Given the description of an element on the screen output the (x, y) to click on. 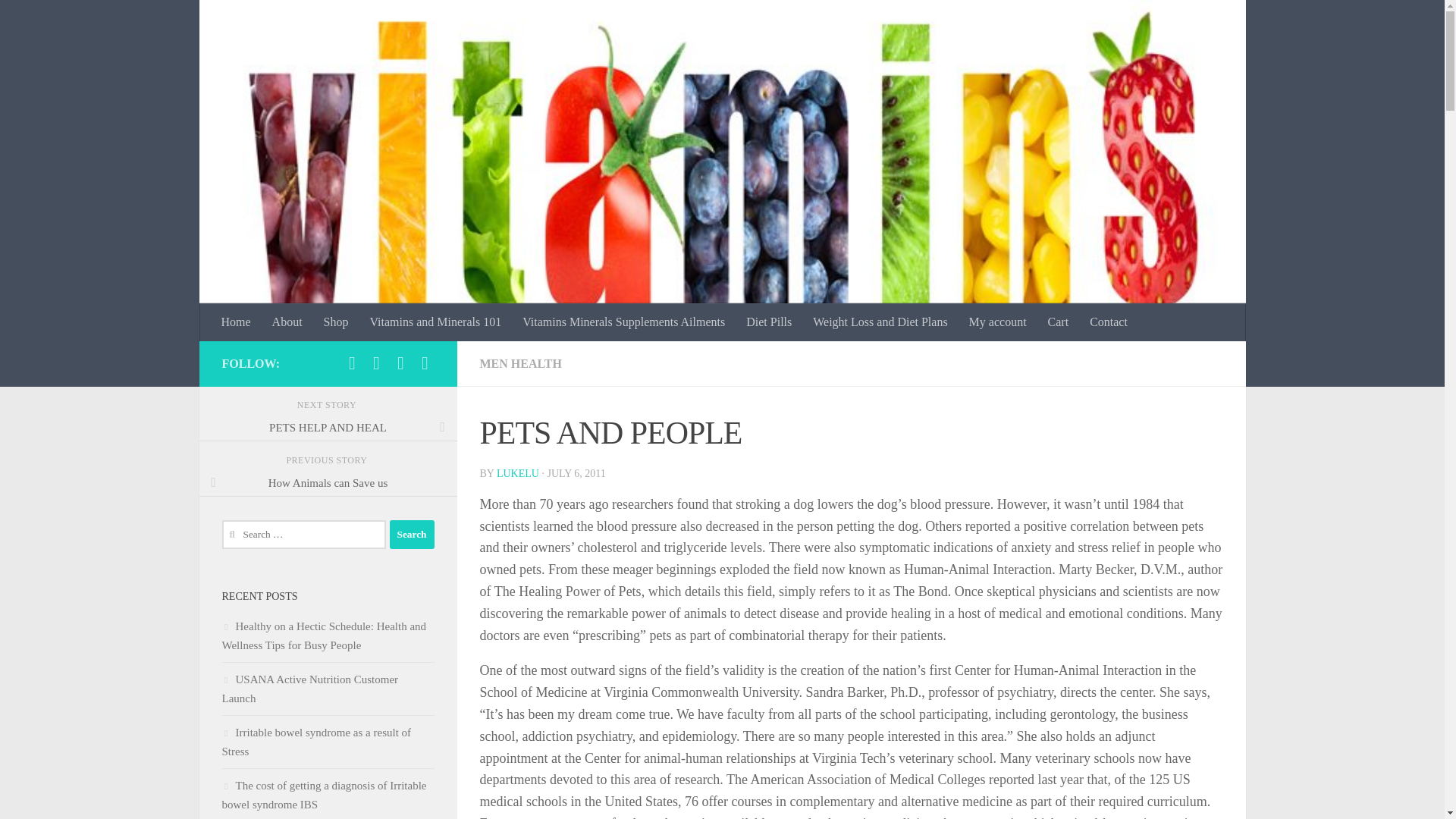
Posts by lukelu (517, 473)
Vitamins and Minerals 101 (435, 322)
Follow us on Instagram (400, 362)
Home (236, 322)
About (287, 322)
Contact (1108, 322)
Cart (1058, 322)
Skip to content (59, 20)
Follow us on Twitter (375, 362)
Diet Pills (768, 322)
Weight Loss and Diet Plans (880, 322)
PETS HELP AND HEAL (327, 427)
MEN HEALTH (519, 363)
Vitamins Minerals Supplements Ailments (623, 322)
My account (997, 322)
